Given the description of an element on the screen output the (x, y) to click on. 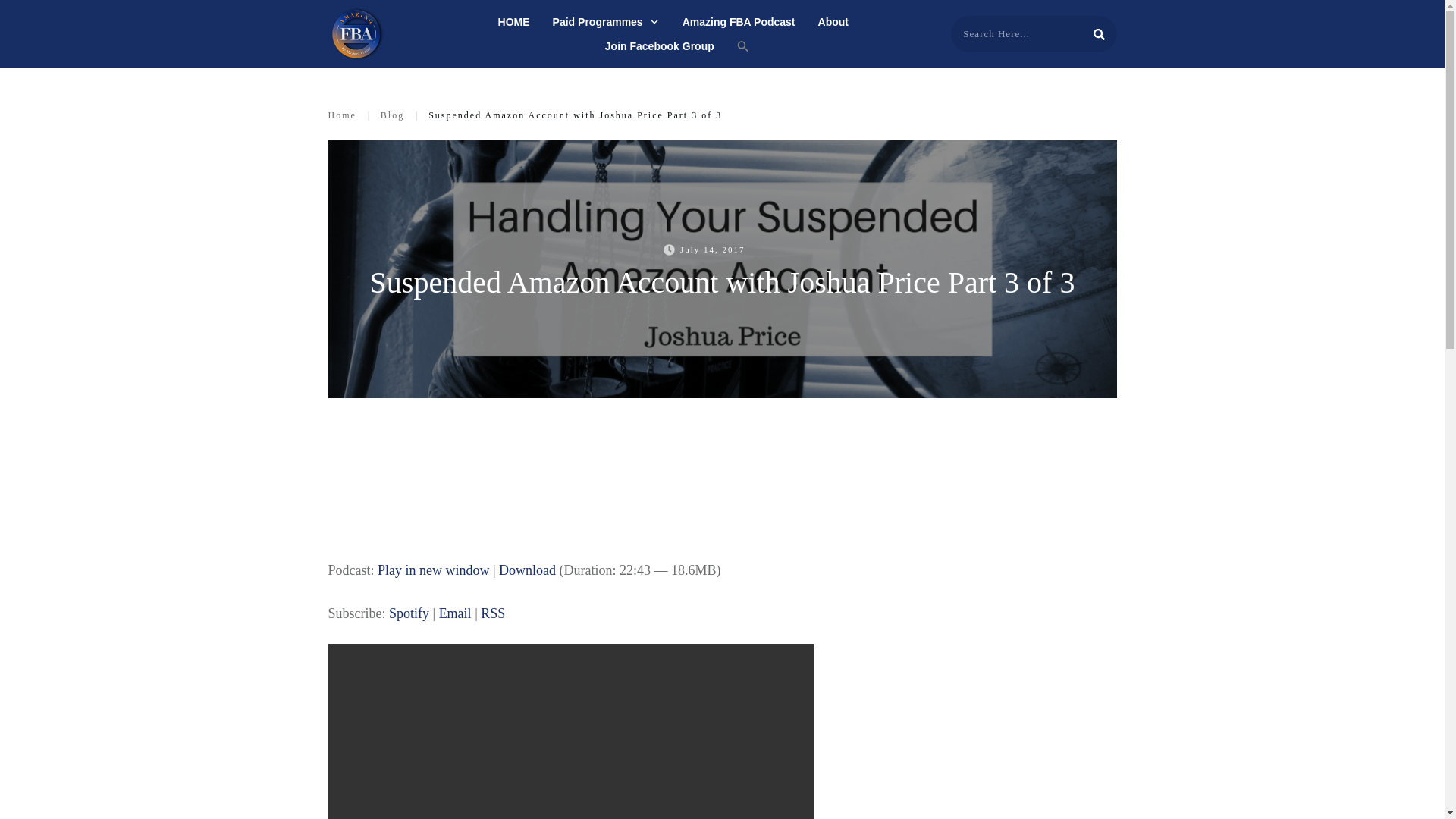
Home (341, 115)
Paid Programmes (606, 21)
Amazing FBA Podcast (738, 21)
Download (527, 570)
Spotify (408, 612)
About (833, 21)
Subscribe via RSS (492, 612)
Play in new window (433, 570)
Join Facebook Group (659, 46)
Blog (392, 115)
